Given the description of an element on the screen output the (x, y) to click on. 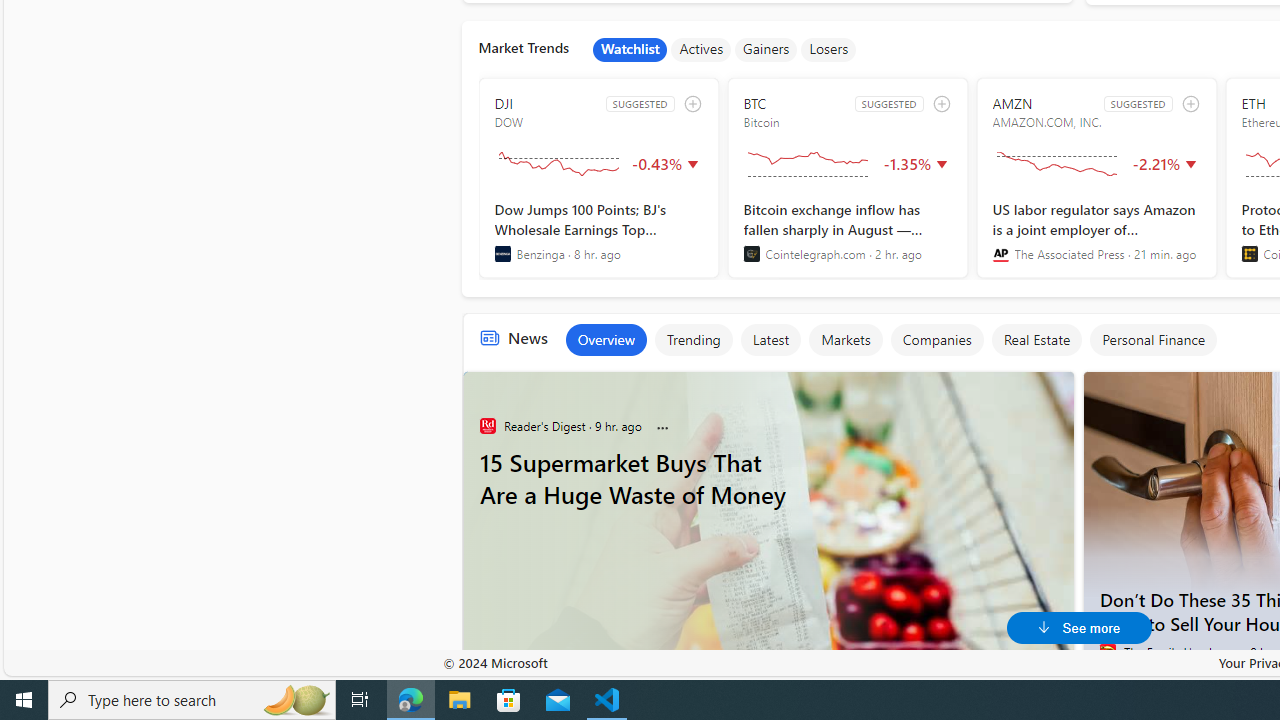
See more (1079, 627)
Latest (770, 339)
Dow Jumps 100 Points; BJ's Wholesale Earnings Top Estimates (598, 231)
DJI SUGGESTED DOW (598, 178)
AdChoices (1056, 382)
AMZN SUGGESTED AMAZON.COM, INC. (1096, 178)
Losers (829, 49)
BTC SUGGESTED Bitcoin (847, 178)
CoinDesk (1249, 254)
Trending (693, 339)
Actives (701, 49)
Markets (845, 339)
Benzinga (502, 254)
